Given the description of an element on the screen output the (x, y) to click on. 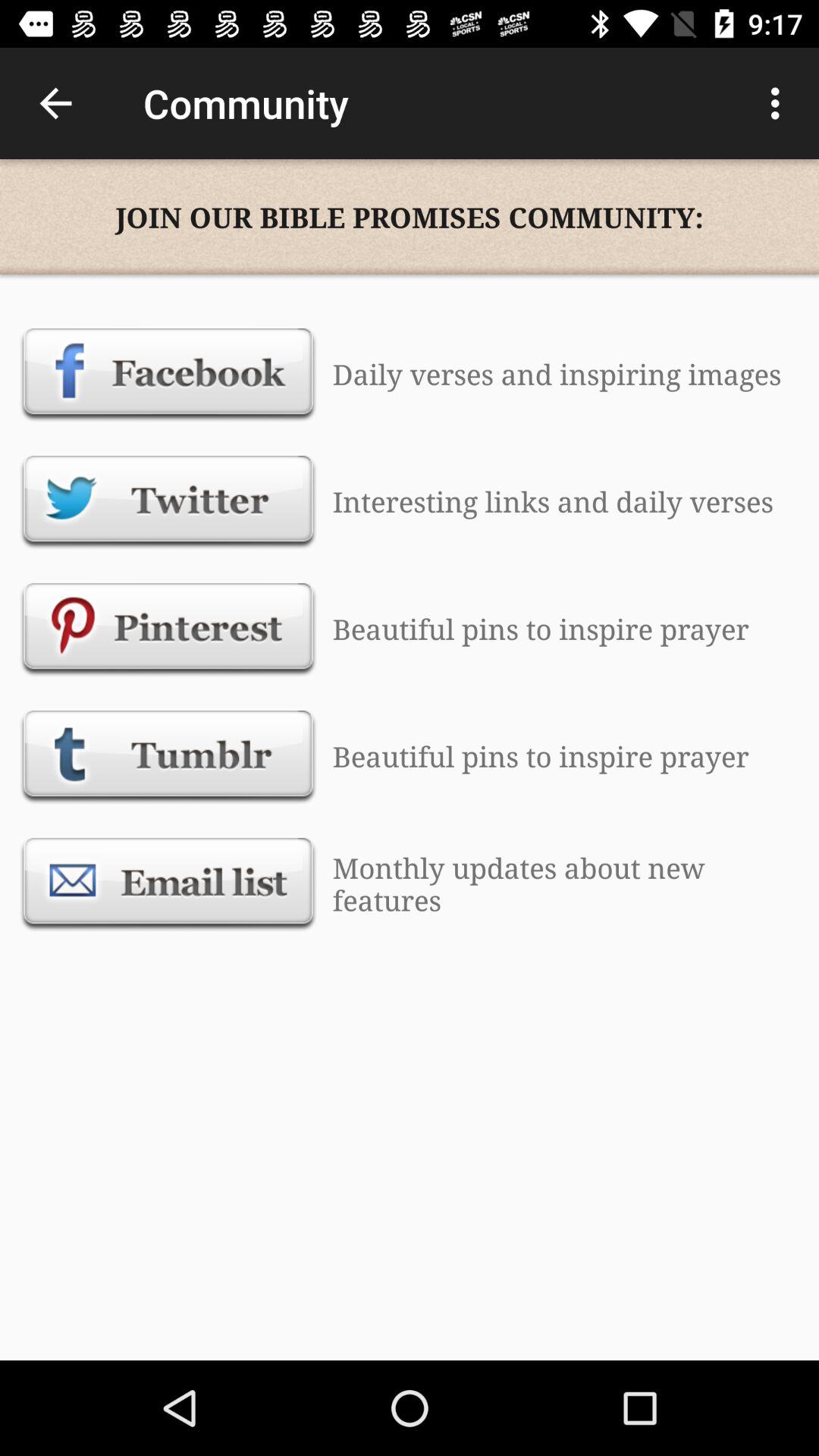
subscribe email list (167, 883)
